Given the description of an element on the screen output the (x, y) to click on. 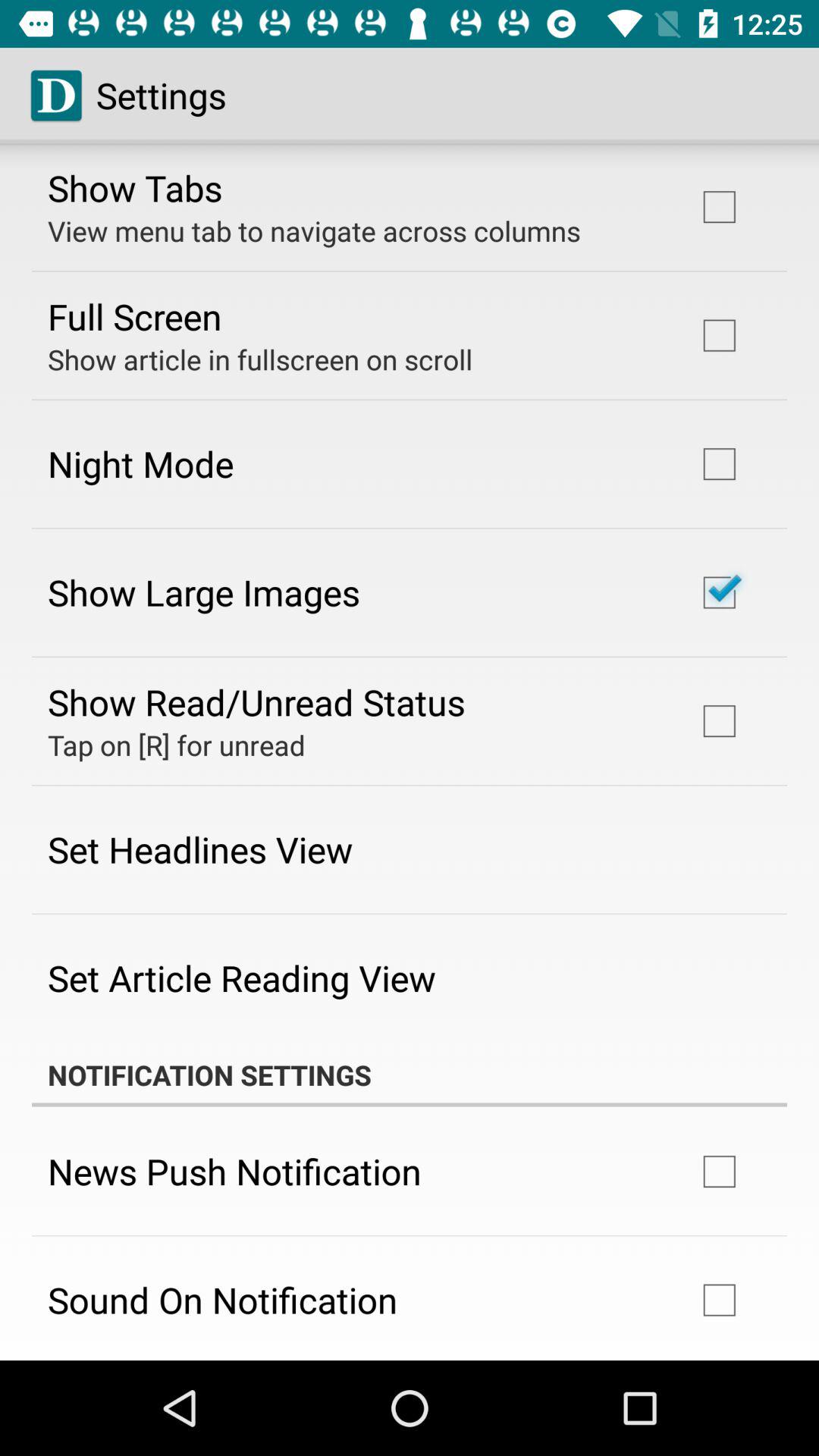
click on the checkbox which is on the right side of show large images (719, 592)
click right bottom button (719, 1300)
click on the square box to the right of the text night mode (719, 464)
